Given the description of an element on the screen output the (x, y) to click on. 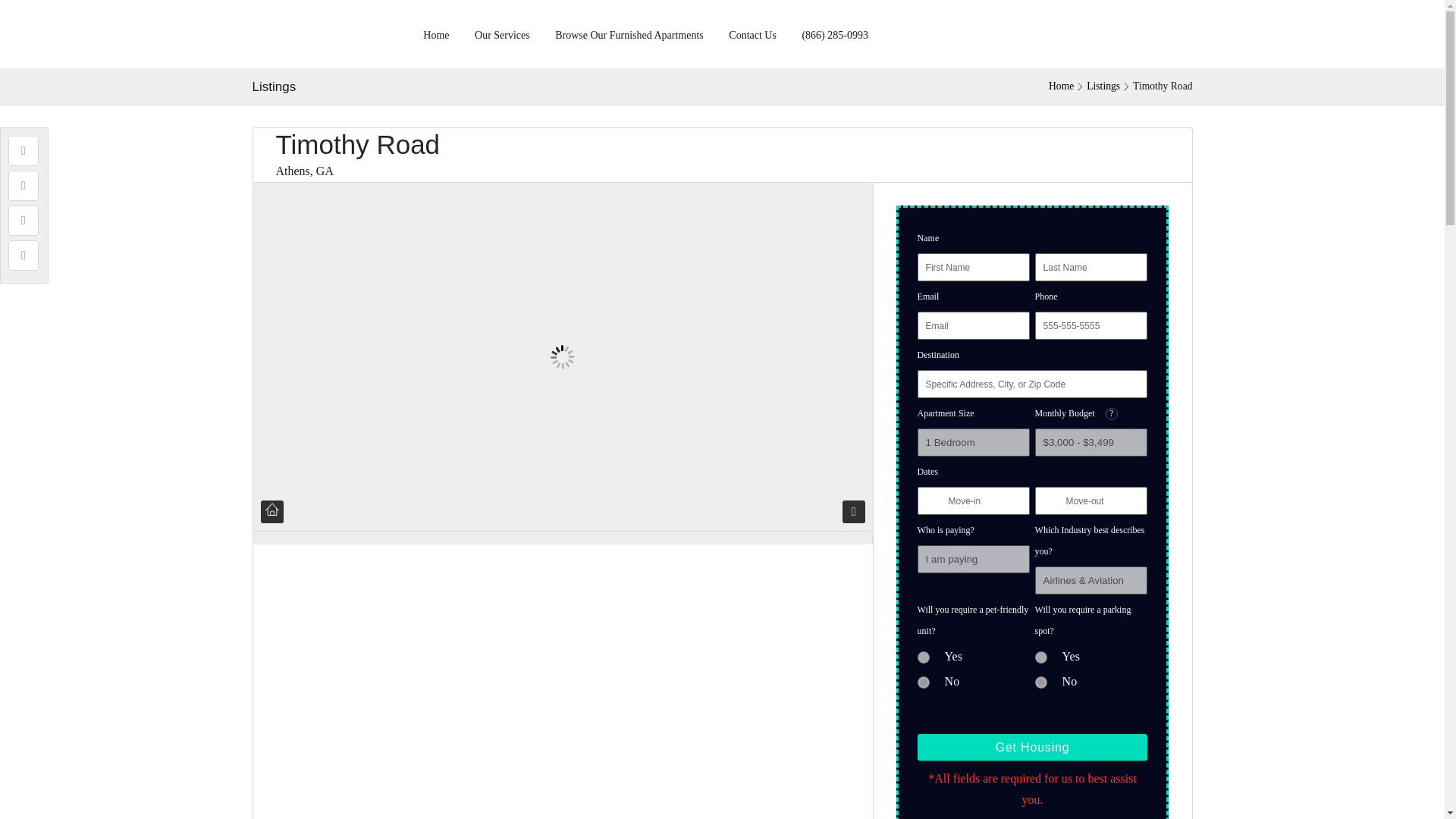
Get Housing (1032, 746)
YES (1040, 657)
NO (923, 682)
NO (1040, 682)
Home (1061, 86)
Our Services (502, 33)
Listings (1102, 86)
Contact Us (752, 33)
Browse Our Furnished Apartments (628, 33)
YES (923, 657)
